Given the description of an element on the screen output the (x, y) to click on. 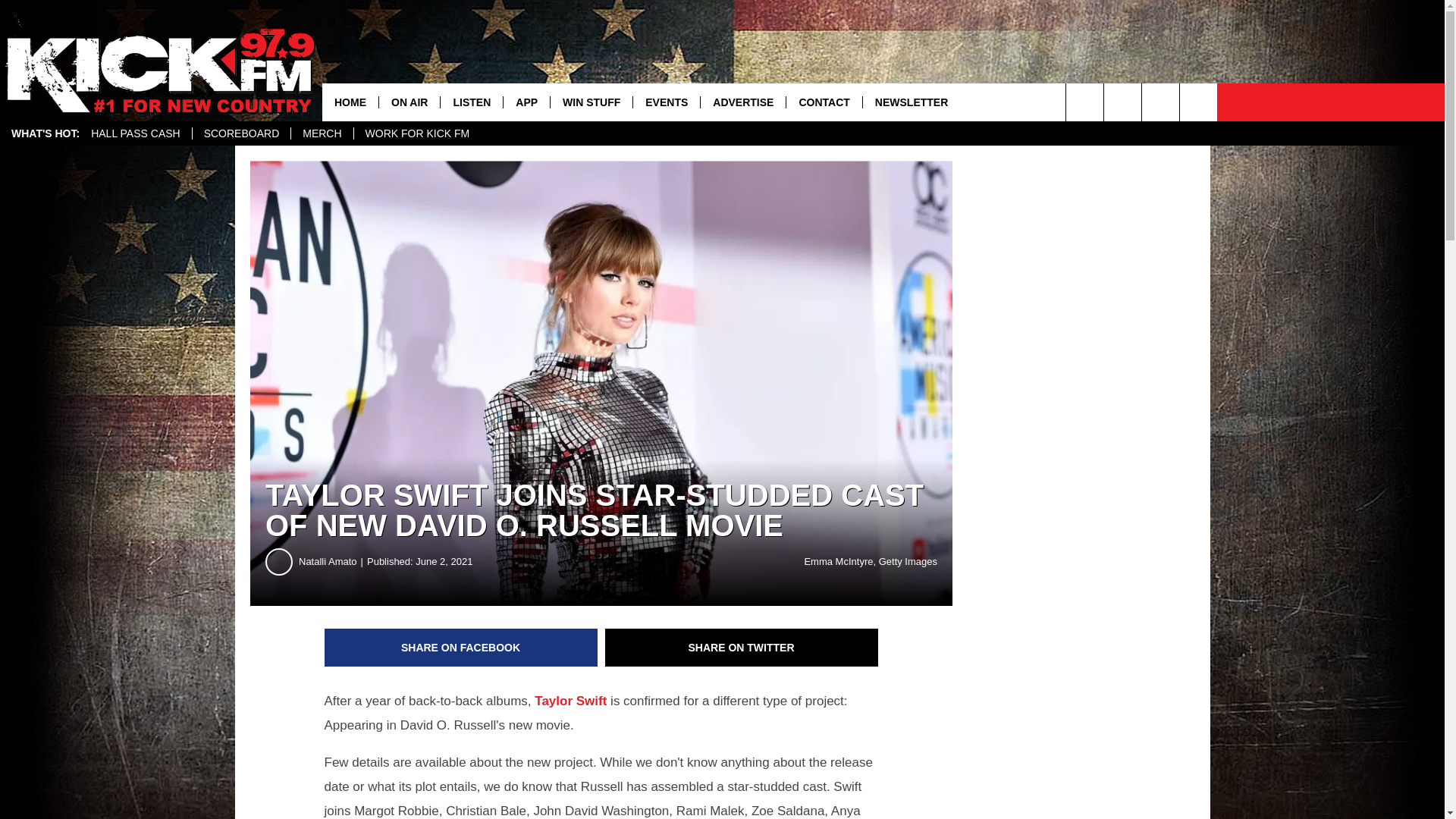
SCOREBOARD (241, 133)
ADVERTISE (743, 102)
MERCH (320, 133)
ON AIR (408, 102)
LISTEN (470, 102)
CONTACT (823, 102)
APP (526, 102)
EVENTS (665, 102)
WORK FOR KICK FM (417, 133)
NEWSLETTER (910, 102)
